Given the description of an element on the screen output the (x, y) to click on. 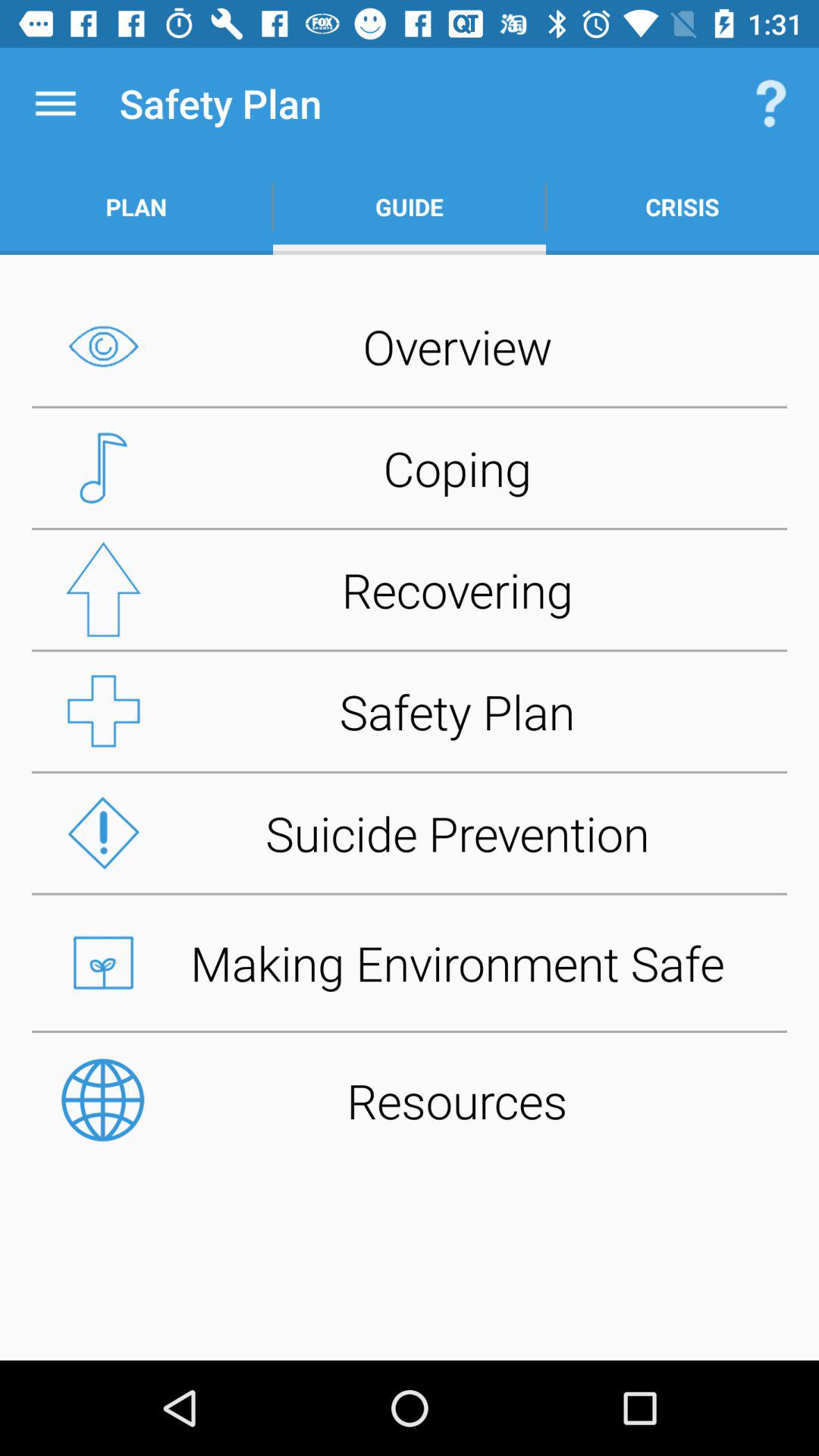
press the item to the left of the safety plan item (55, 103)
